Given the description of an element on the screen output the (x, y) to click on. 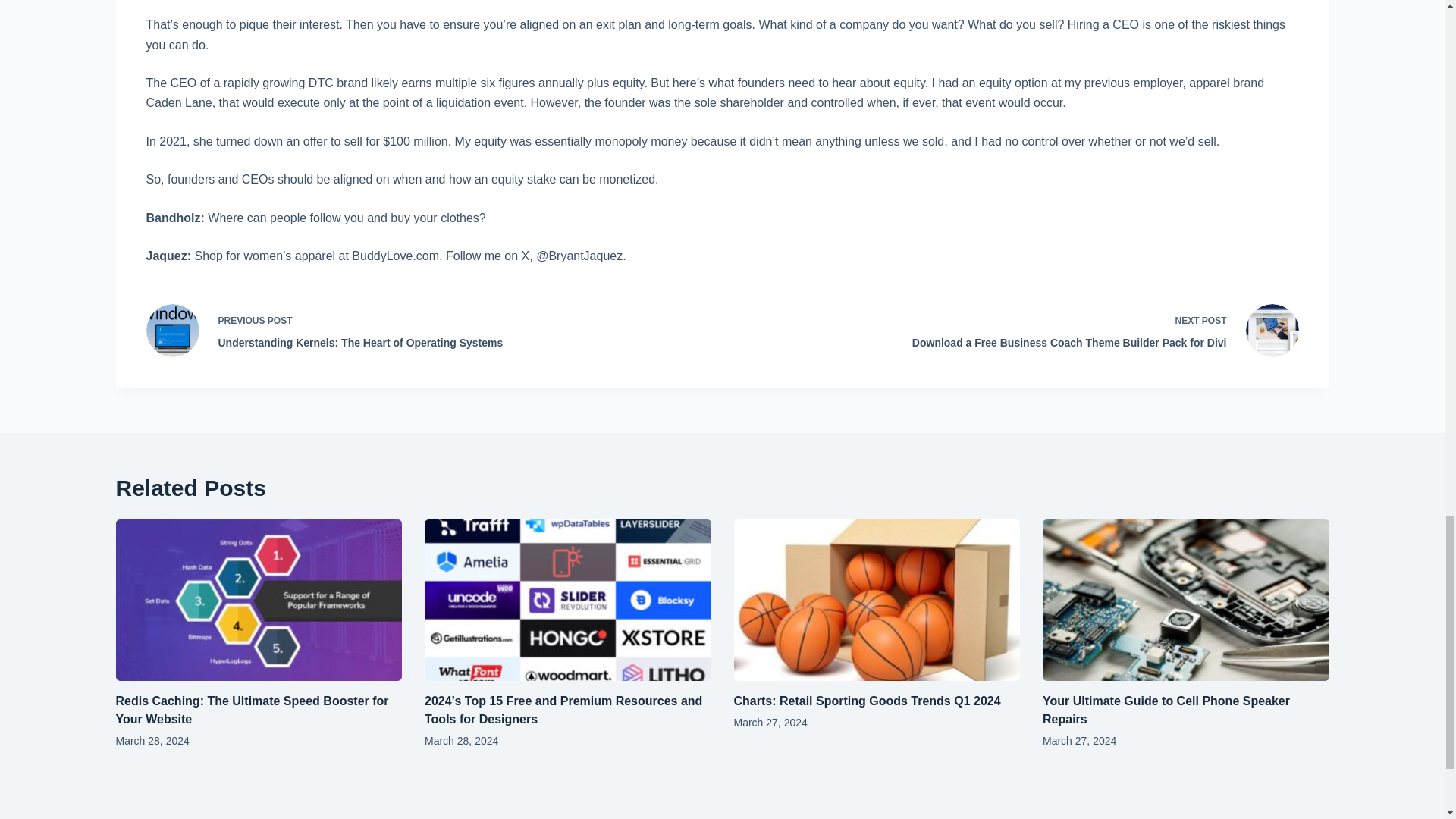
Charts: Retail Sporting Goods Trends Q1 2024 (867, 700)
Redis Caching: The Ultimate Speed Booster for Your Website (251, 709)
Your Ultimate Guide to Cell Phone Speaker Repairs (1166, 709)
